Given the description of an element on the screen output the (x, y) to click on. 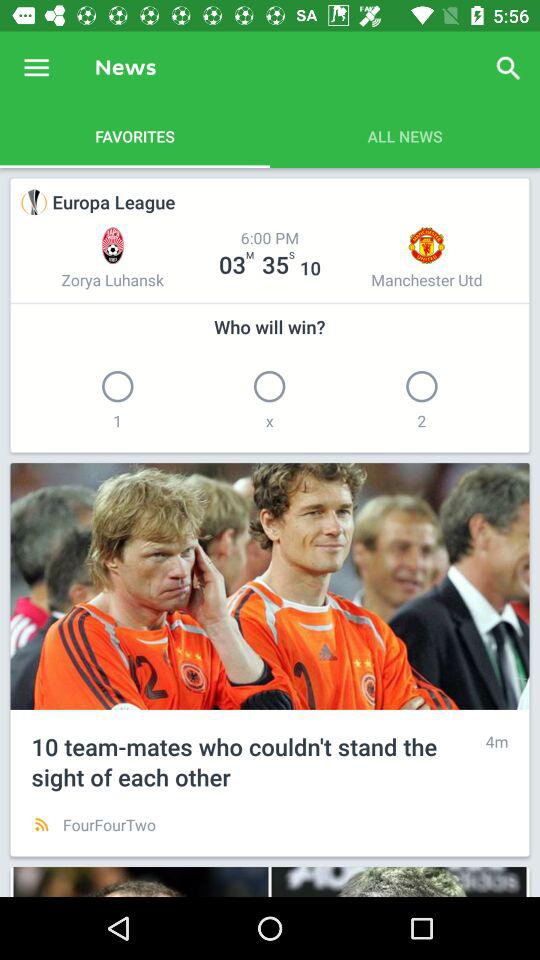
tap icon next to the news item (36, 68)
